Given the description of an element on the screen output the (x, y) to click on. 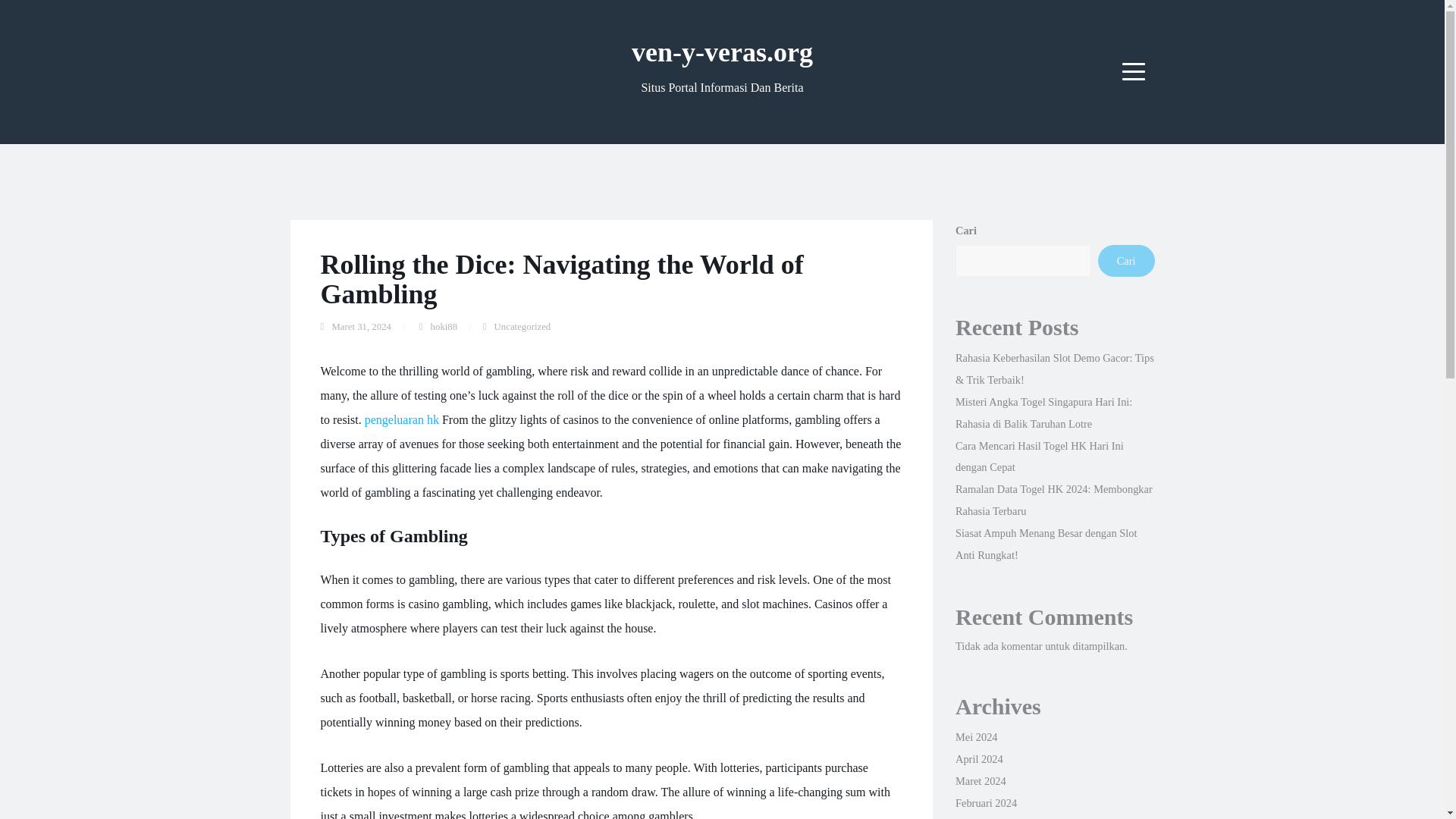
Siasat Ampuh Menang Besar dengan Slot Anti Rungkat! (1046, 544)
pengeluaran hk (402, 419)
Cari (1125, 260)
Uncategorized (523, 326)
Maret 2024 (980, 780)
Februari 2024 (985, 802)
Cara Mencari Hasil Togel HK Hari Ini dengan Cepat (1039, 456)
Mei 2024 (976, 736)
ven-y-veras.org (721, 51)
hoki88 (444, 326)
April 2024 (979, 758)
Maret 31, 2024 (361, 326)
Menu (1133, 71)
Ramalan Data Togel HK 2024: Membongkar Rahasia Terbaru (1054, 499)
